Given the description of an element on the screen output the (x, y) to click on. 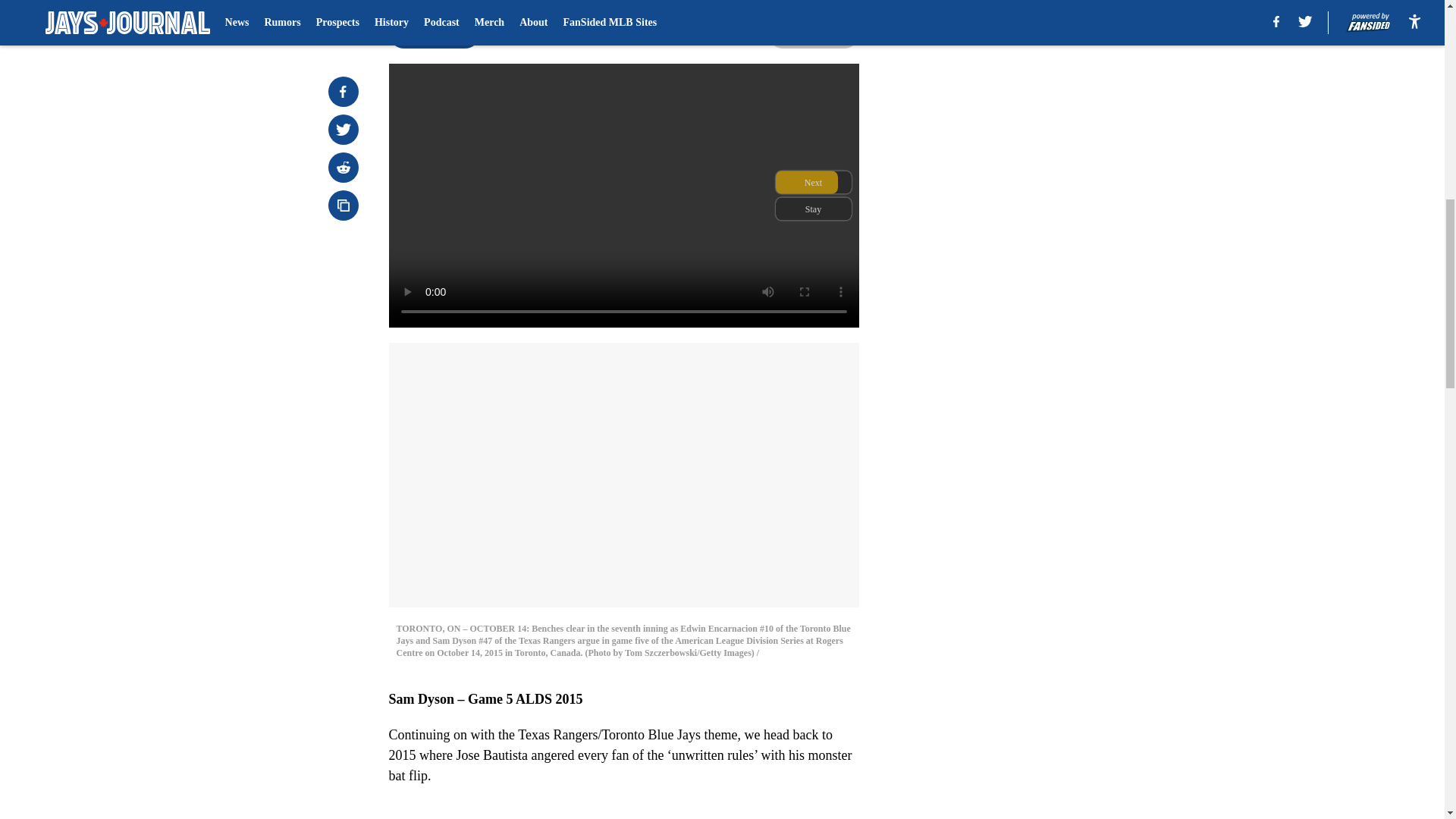
Next (813, 33)
Prev (433, 33)
